Given the description of an element on the screen output the (x, y) to click on. 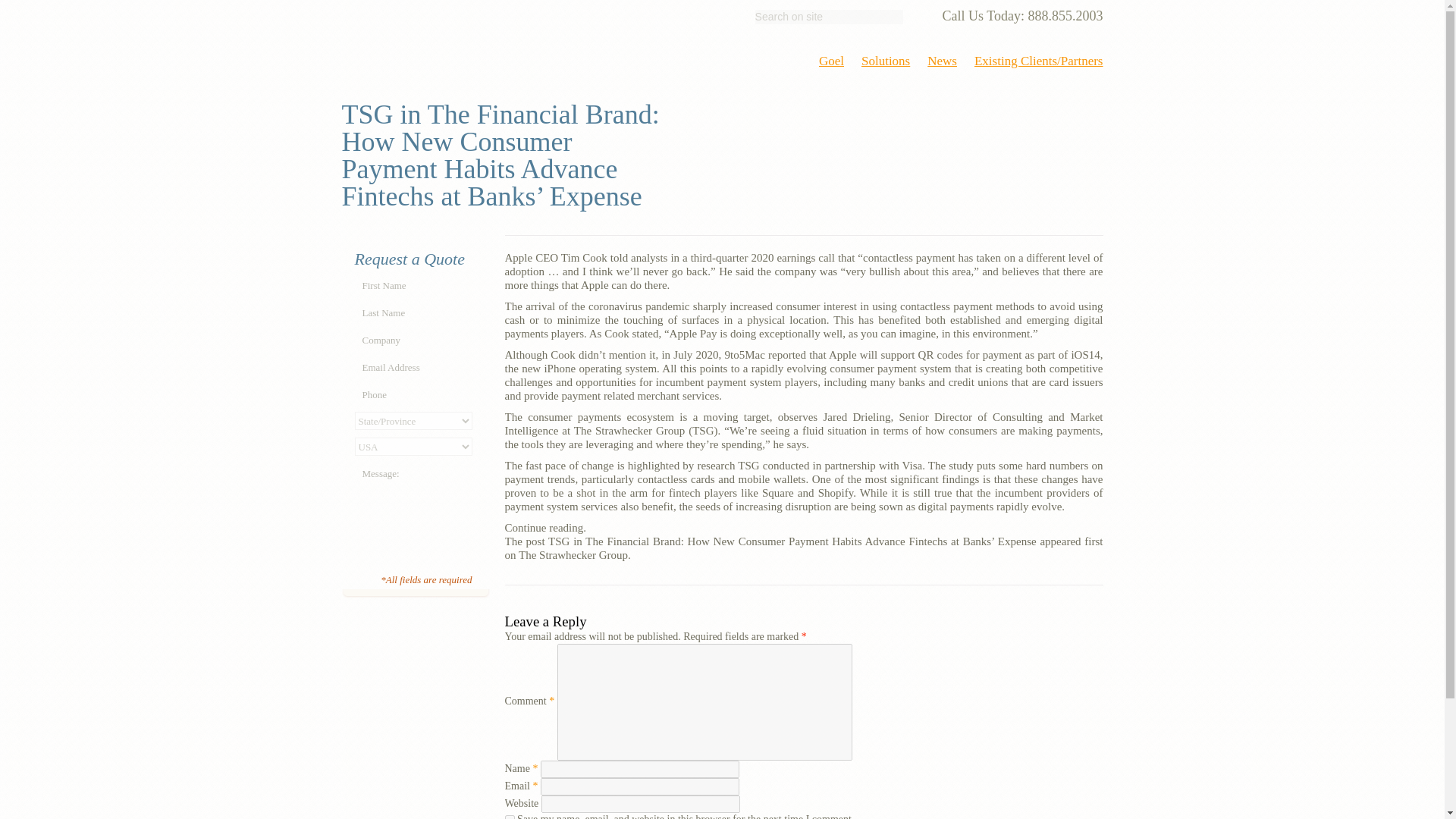
Goel (418, 51)
Search (922, 17)
Solutions (885, 60)
Goel (831, 60)
yes (510, 816)
Submit (414, 558)
Submit (414, 558)
Search (922, 17)
News (941, 60)
